Given the description of an element on the screen output the (x, y) to click on. 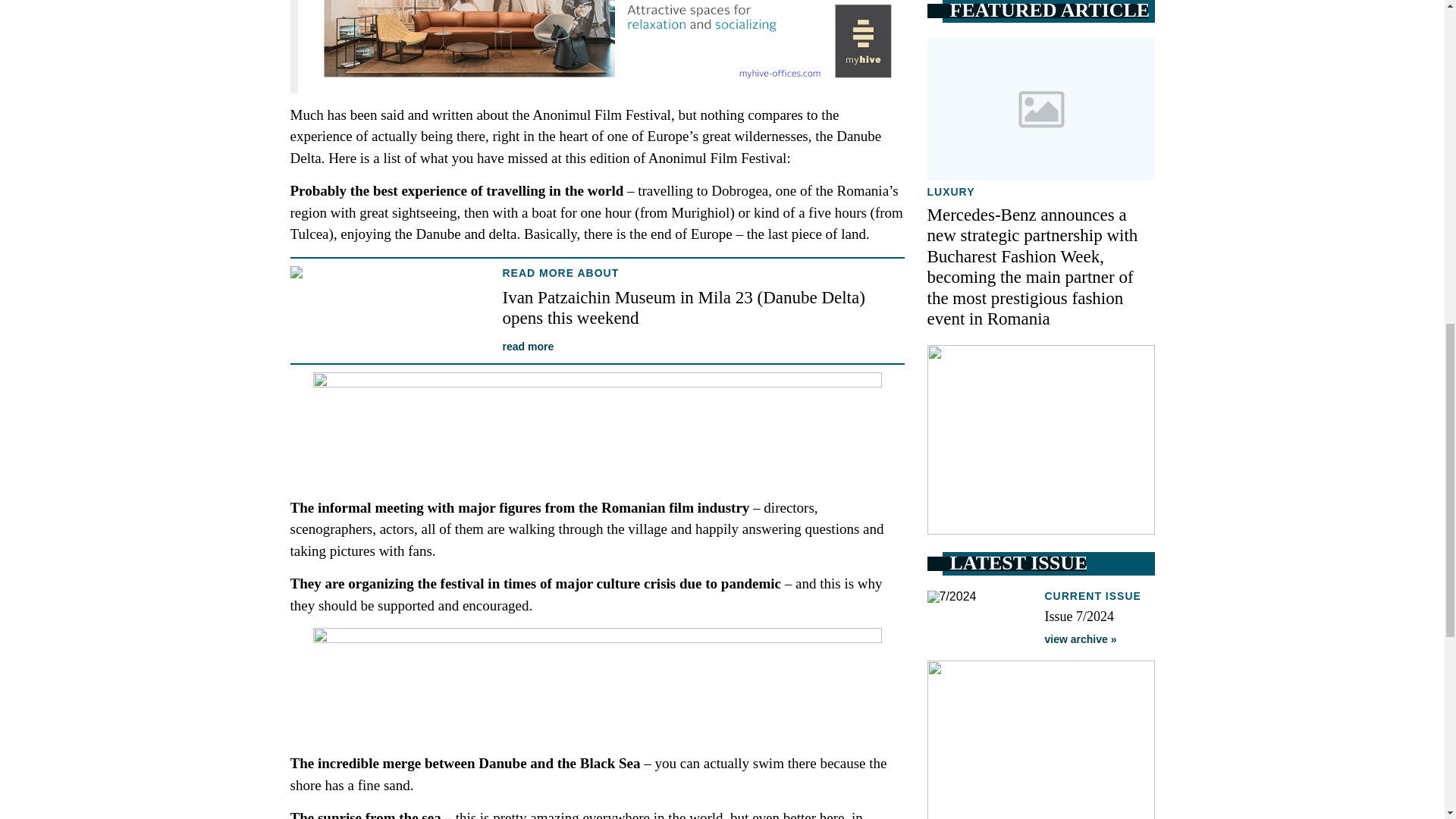
read more (527, 346)
